Given the description of an element on the screen output the (x, y) to click on. 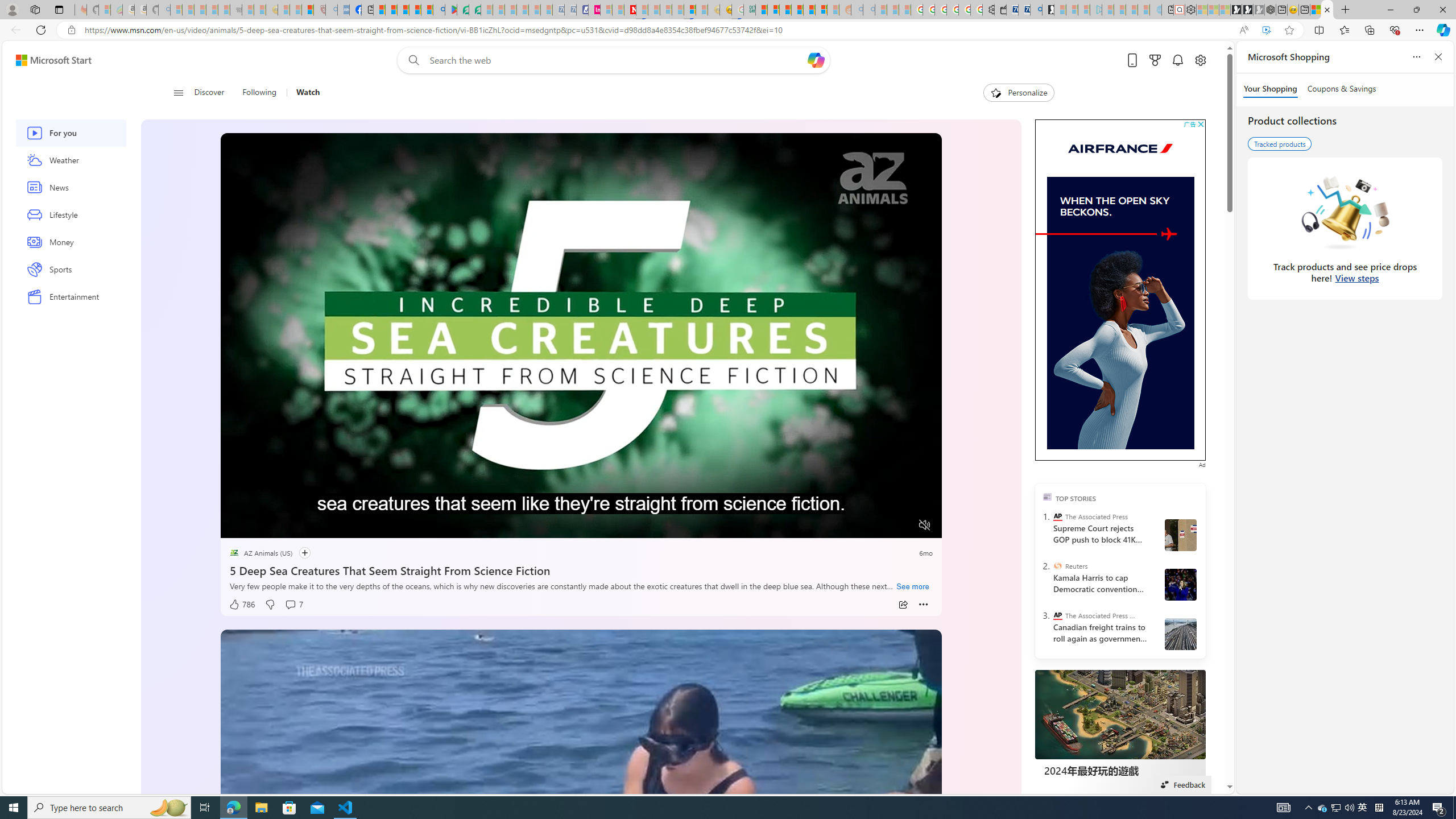
Offline games - Android Apps on Google Play (450, 9)
Captions (880, 525)
The Weather Channel - MSN - Sleeping (200, 9)
New Report Confirms 2023 Was Record Hot | Watch - Sleeping (223, 9)
Microsoft Word - consumer-privacy address update 2.2021 (475, 9)
Pause (236, 525)
